Given the description of an element on the screen output the (x, y) to click on. 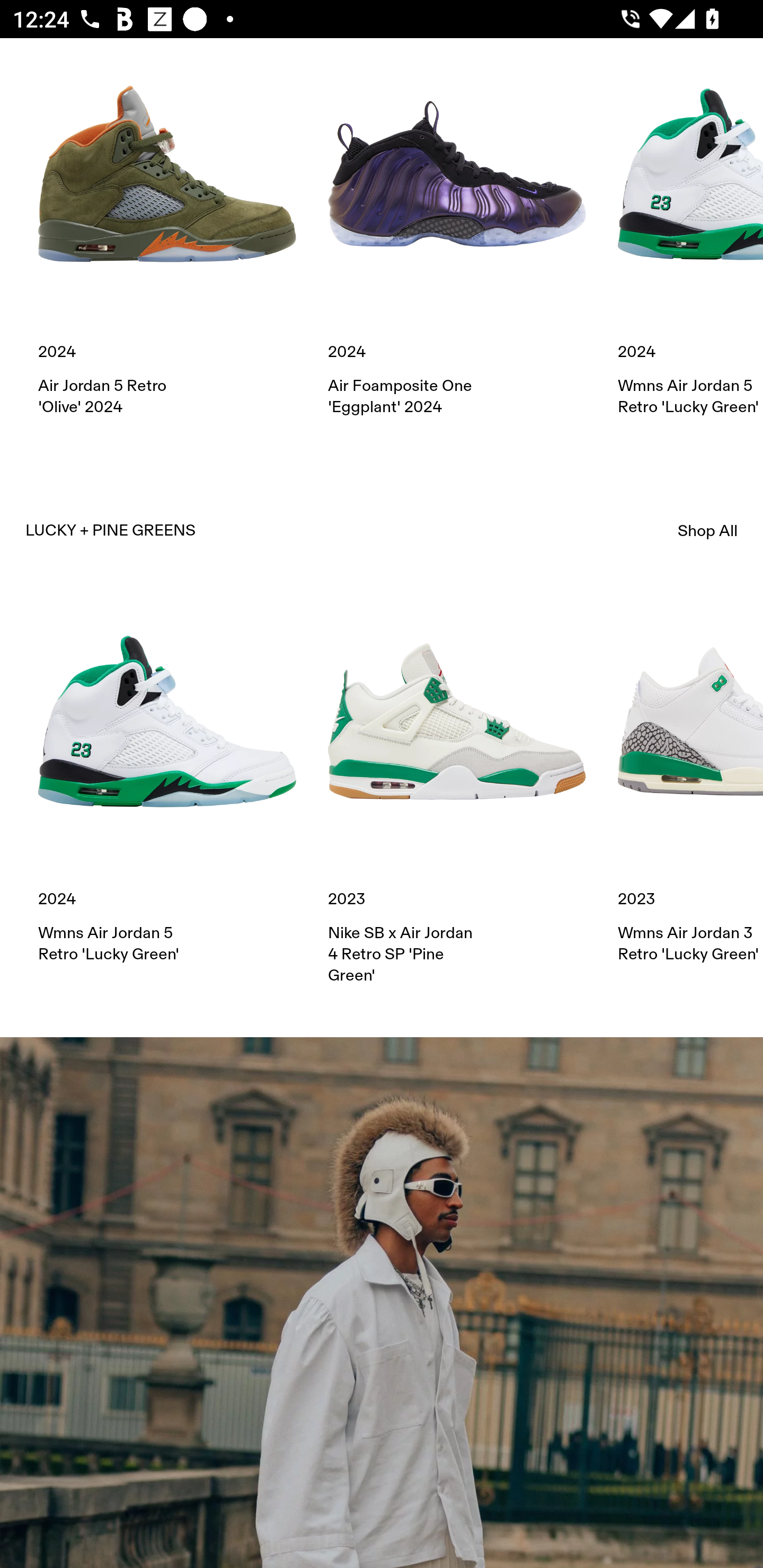
2024 Air Jordan 5 Retro 'Olive' 2024 (167, 231)
2024 Air Foamposite One 'Eggplant' 2024 (456, 231)
2024 Wmns Air Jordan 5 Retro 'Lucky Green' (690, 231)
Shop All (707, 530)
2024 Wmns Air Jordan 5 Retro 'Lucky Green' (167, 778)
2023 Nike SB x Air Jordan 4 Retro SP 'Pine Green' (456, 789)
2023 Wmns Air Jordan 3 Retro 'Lucky Green' (690, 778)
